Given the description of an element on the screen output the (x, y) to click on. 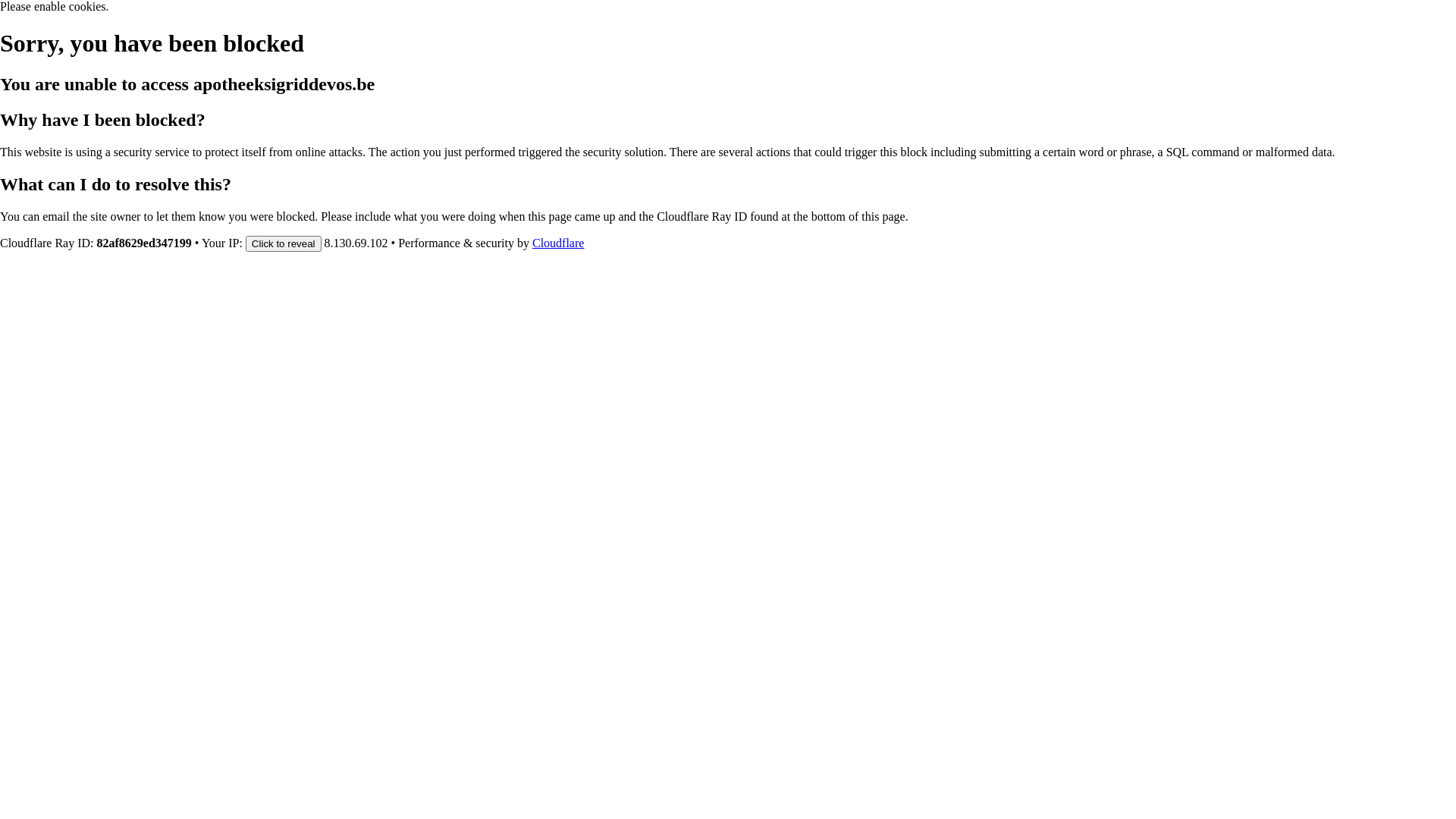
Click to reveal Element type: text (283, 243)
Cloudflare Element type: text (557, 242)
